Given the description of an element on the screen output the (x, y) to click on. 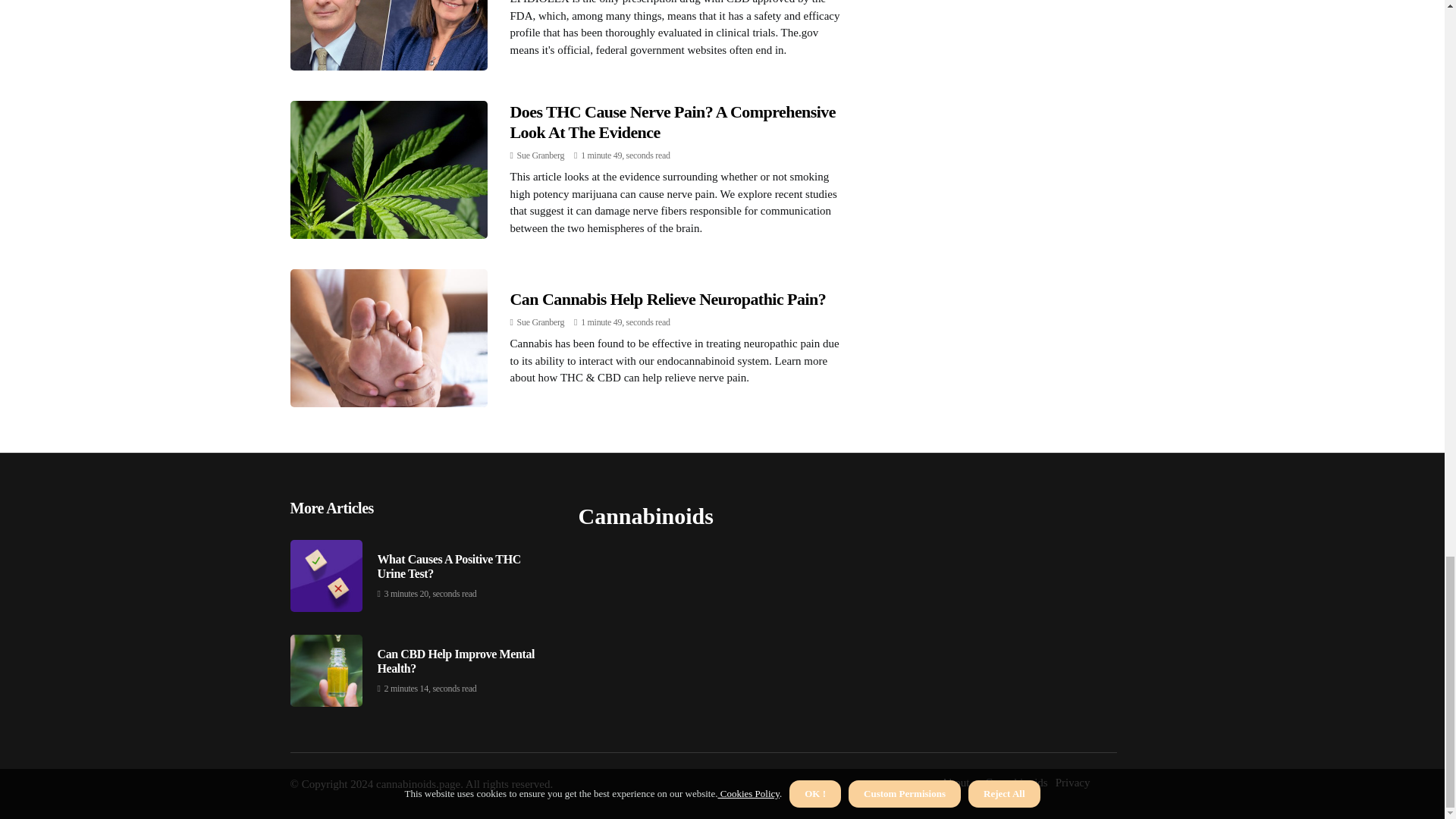
Posts by Sue Granberg (540, 154)
Can Cannabis Help Relieve Neuropathic Pain? (667, 298)
Sue Granberg (540, 321)
Posts by Sue Granberg (540, 321)
Sue Granberg (540, 154)
